Given the description of an element on the screen output the (x, y) to click on. 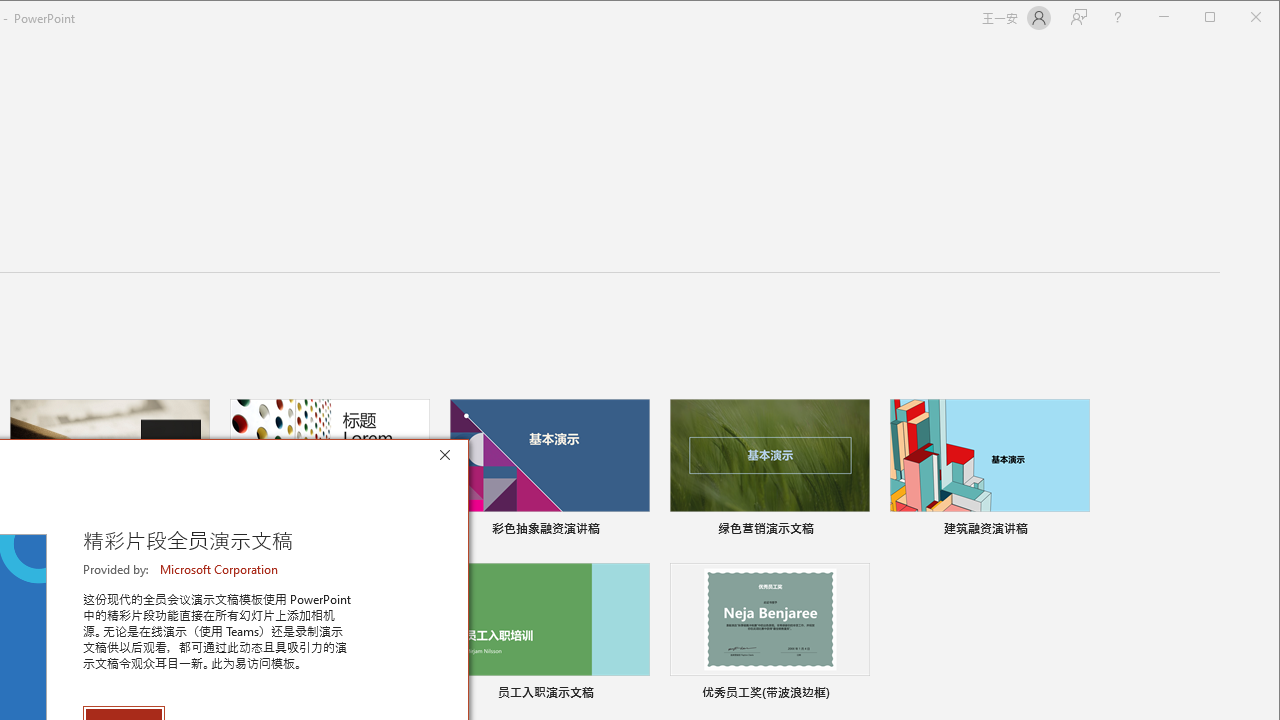
Maximize (1238, 18)
Microsoft Corporation (220, 569)
Pin to list (856, 695)
